Given the description of an element on the screen output the (x, y) to click on. 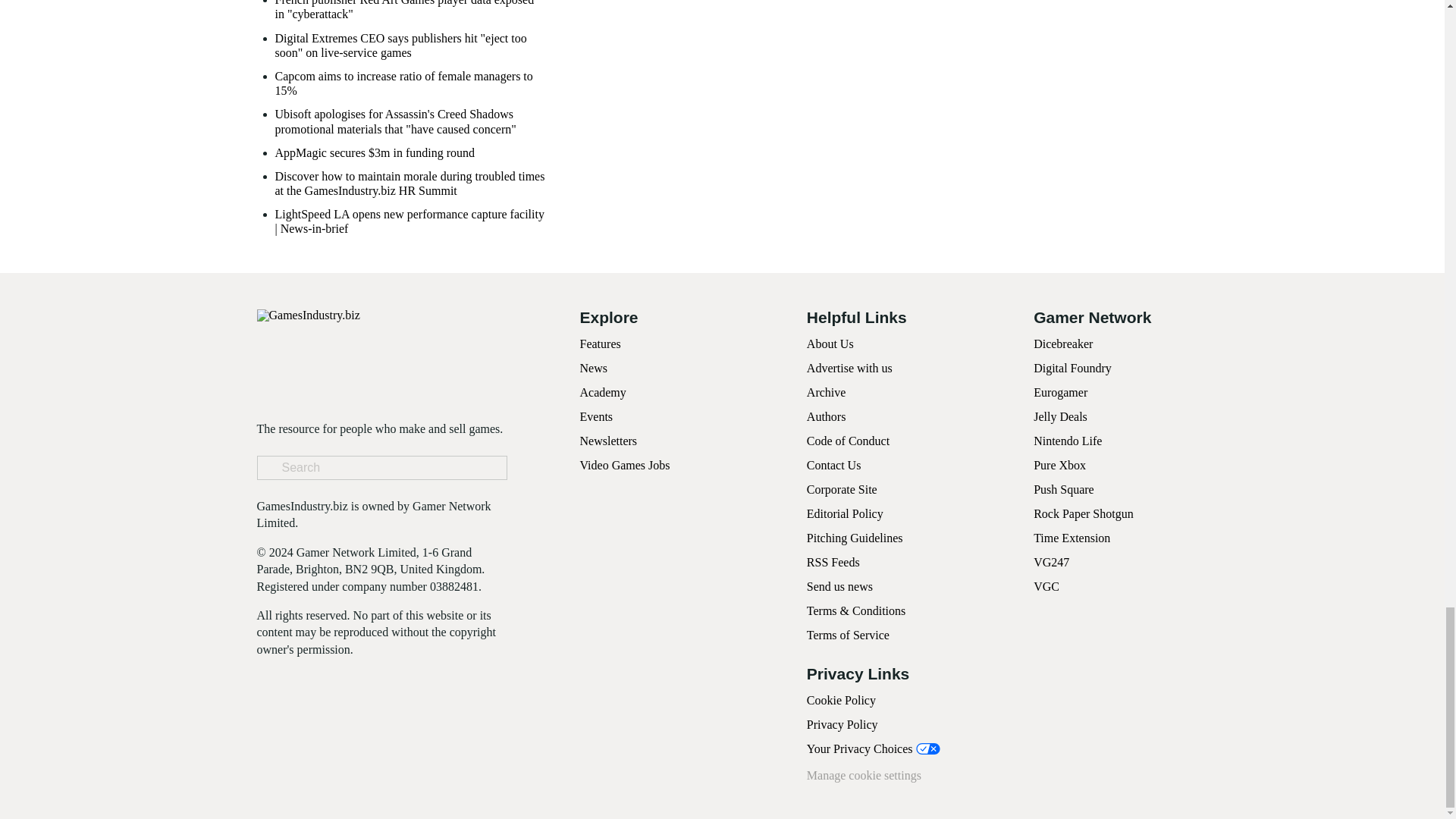
Events (595, 416)
About Us (829, 343)
News (593, 367)
Archive (825, 391)
Video Games Jobs (624, 464)
Newsletters (608, 440)
Academy (602, 391)
Features (599, 343)
Advertise with us (849, 367)
